Given the description of an element on the screen output the (x, y) to click on. 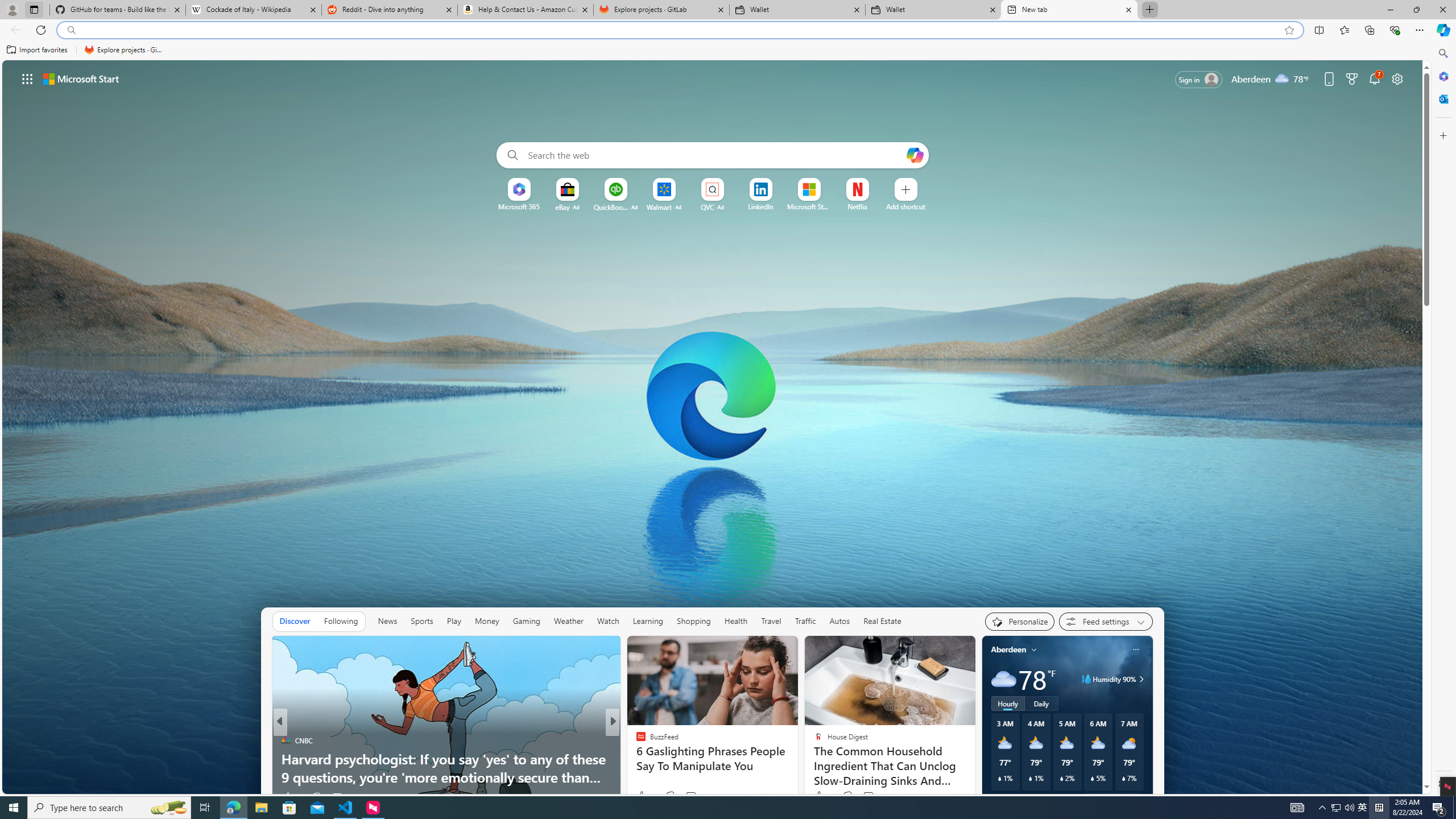
Sports (421, 621)
Weather (569, 621)
Health (735, 621)
View comments 16 Comment (687, 797)
Real Estate (881, 621)
Health (735, 621)
View comments 274 Comment (687, 797)
Money (486, 621)
Traffic (804, 621)
Wallet (933, 9)
